Given the description of an element on the screen output the (x, y) to click on. 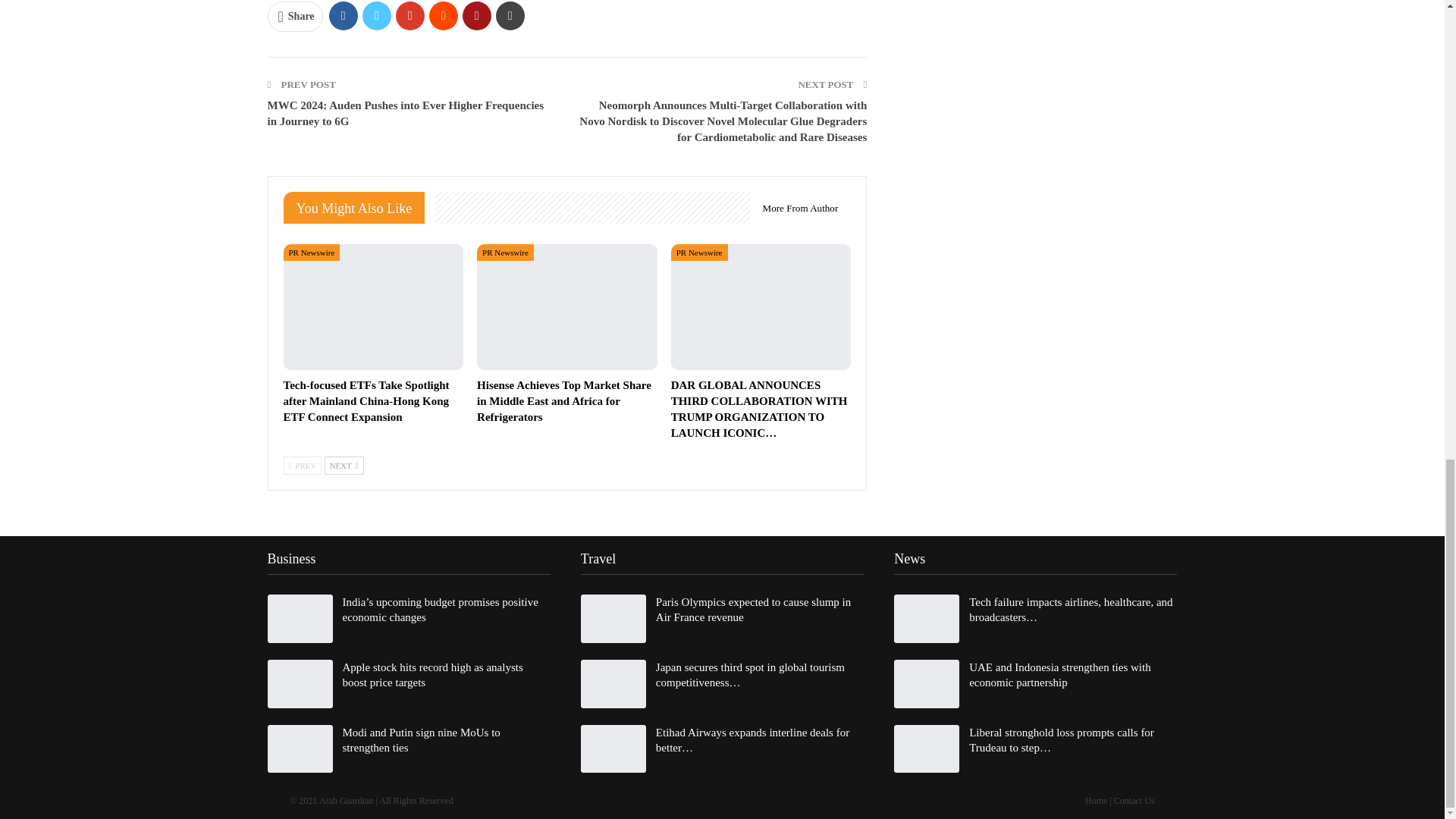
Next (344, 465)
Previous (302, 465)
